Given the description of an element on the screen output the (x, y) to click on. 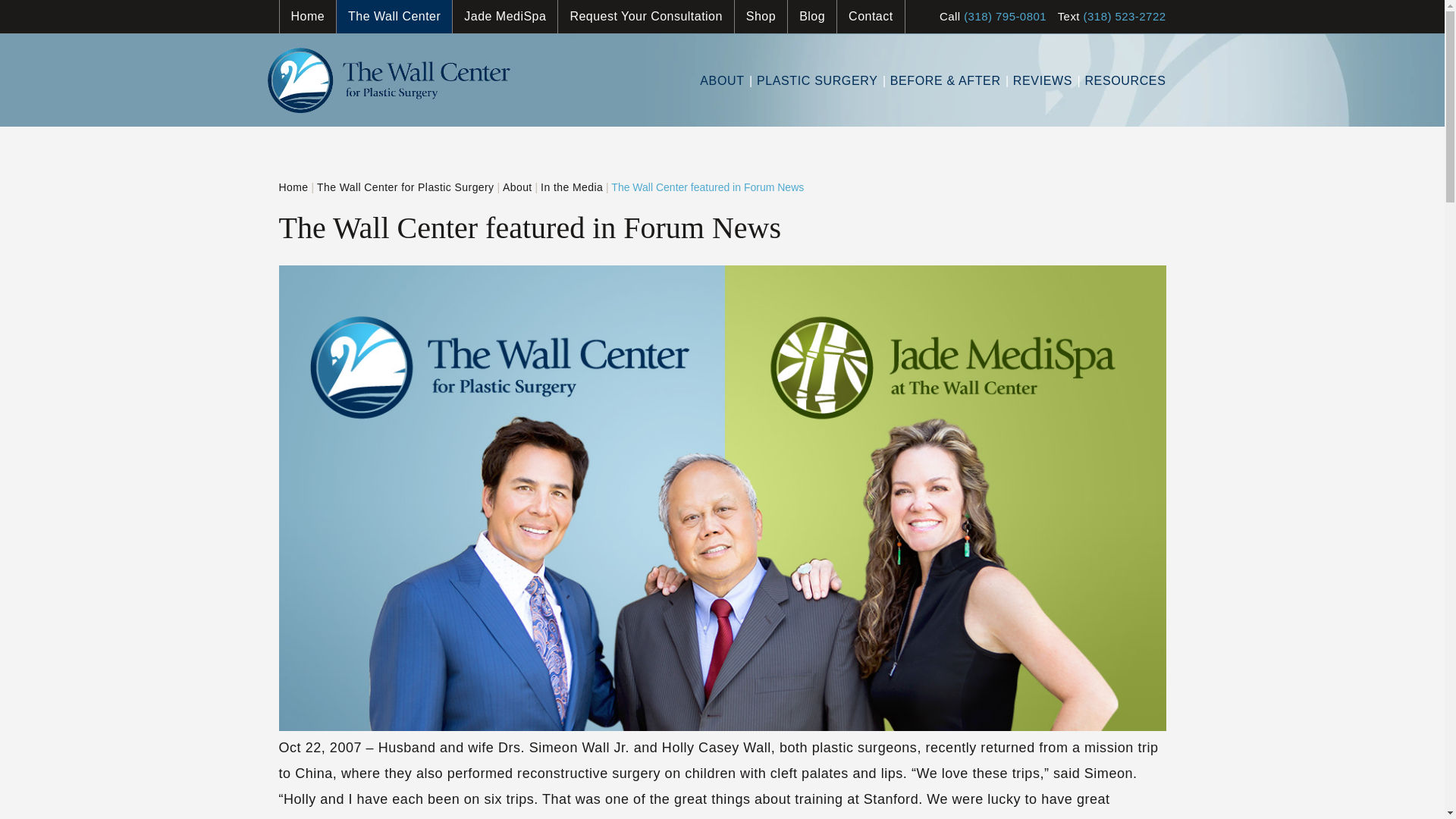
Go to The Wall Center for Plastic Surgery. (406, 186)
Shop (760, 16)
Go to About. (517, 186)
Go to In the Media. (571, 186)
Jade MediSpa (504, 16)
Home (307, 16)
The Wall Center (393, 16)
Contact (870, 16)
Blog (811, 16)
PLASTIC SURGERY (812, 93)
Request Your Consultation (645, 16)
Go to The Wall Center for Plastic Surgery. (293, 186)
